Given the description of an element on the screen output the (x, y) to click on. 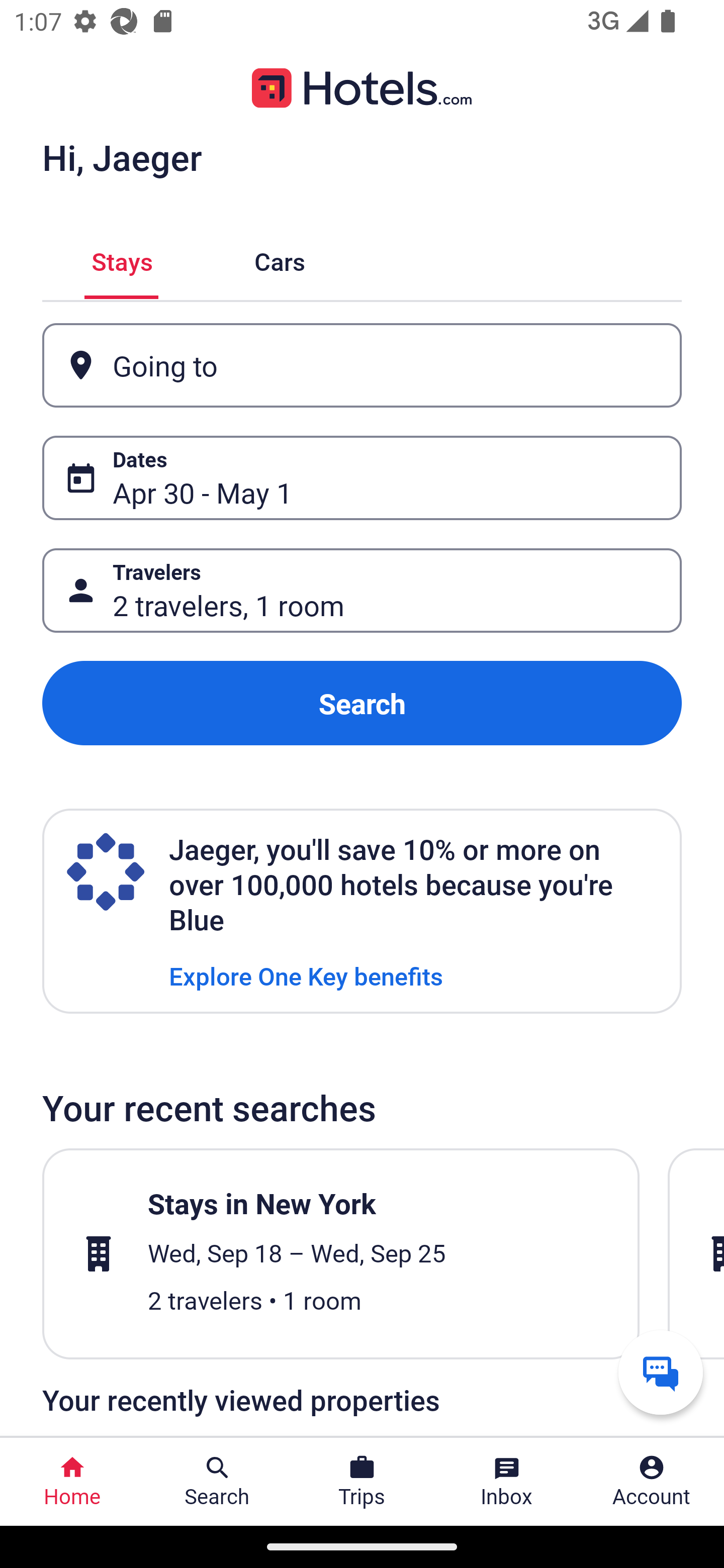
Hi, Jaeger (121, 156)
Cars (279, 259)
Going to Button (361, 365)
Dates Button Apr 30 - May 1 (361, 477)
Travelers Button 2 travelers, 1 room (361, 590)
Search (361, 702)
Get help from a virtual agent (660, 1371)
Search Search Button (216, 1481)
Trips Trips Button (361, 1481)
Inbox Inbox Button (506, 1481)
Account Profile. Button (651, 1481)
